Given the description of an element on the screen output the (x, y) to click on. 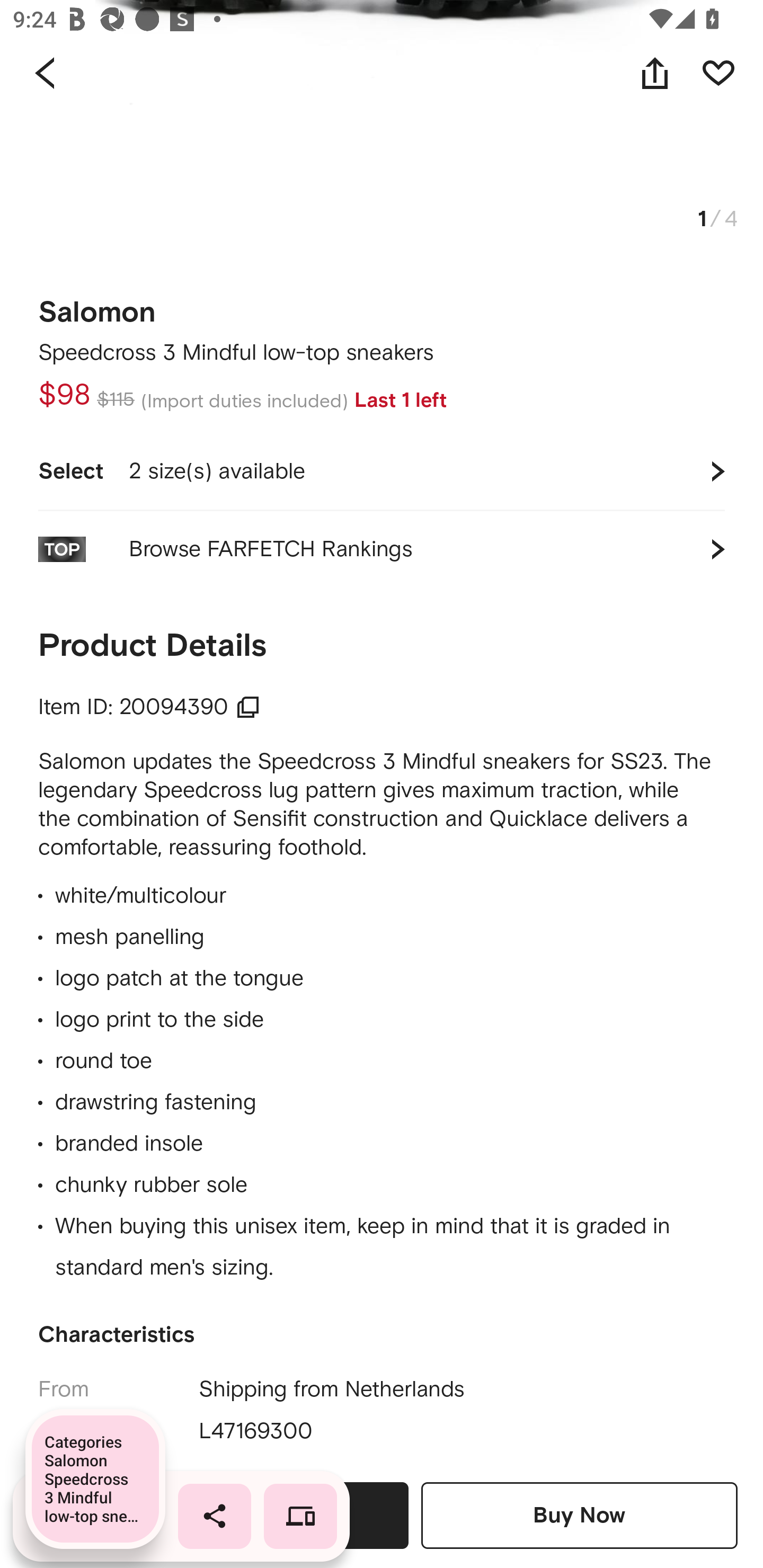
Salomon (97, 306)
Select 2 size(s) available (381, 470)
Browse FARFETCH Rankings (381, 549)
Item ID: 20094390 (149, 707)
Buy Now (579, 1515)
